Given the description of an element on the screen output the (x, y) to click on. 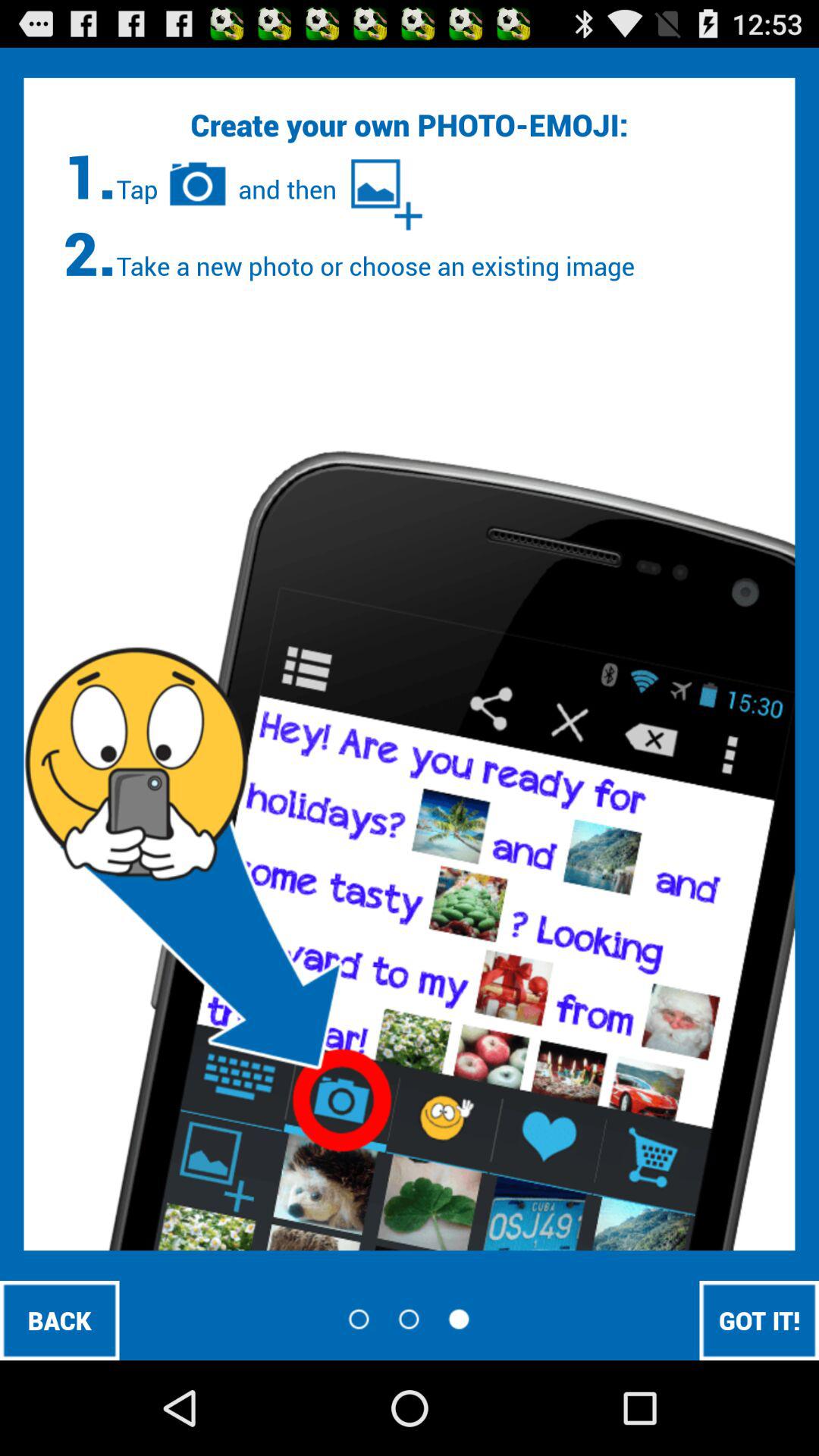
jump to got it! icon (759, 1320)
